Given the description of an element on the screen output the (x, y) to click on. 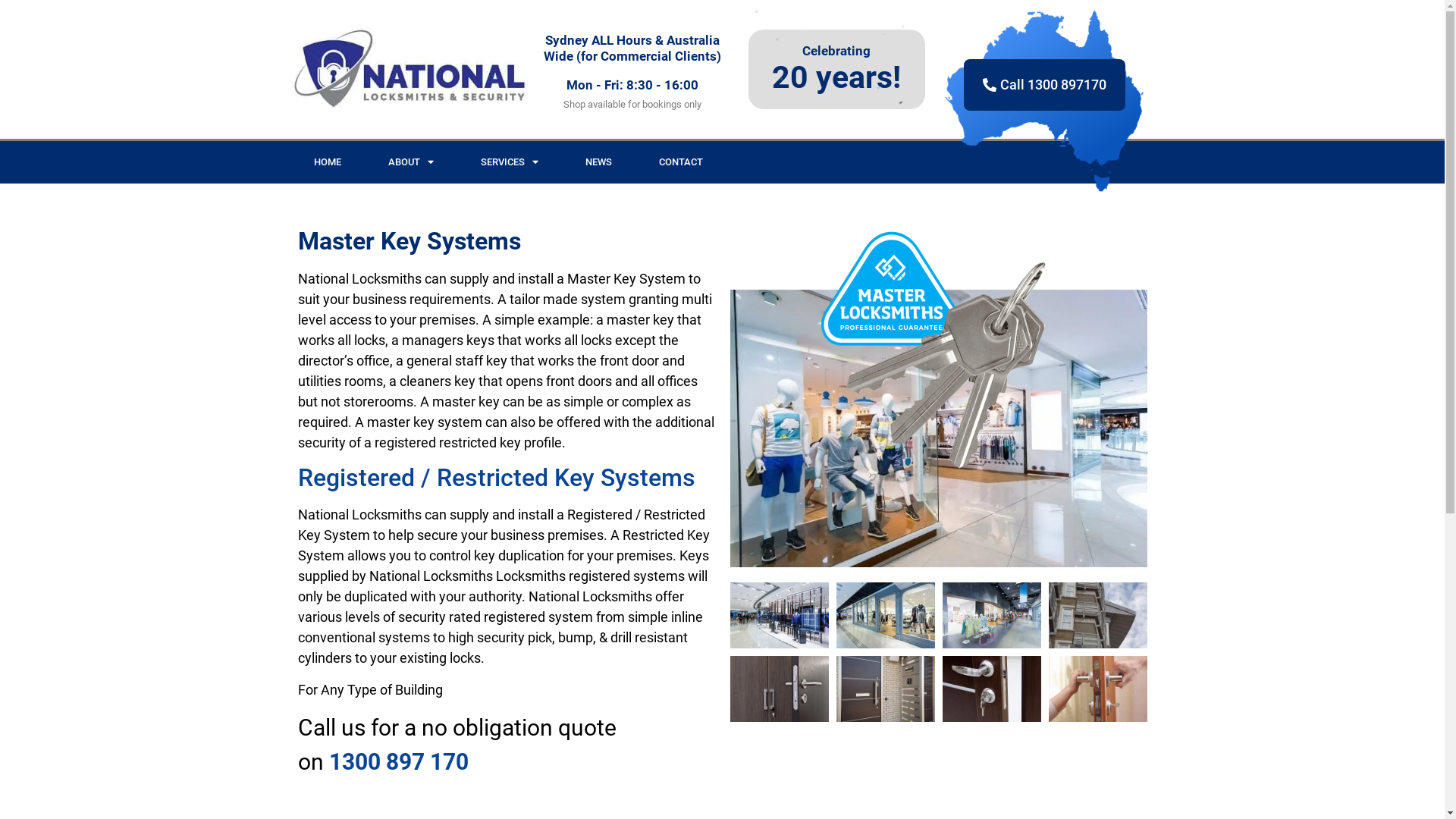
Call 1300 897170 Element type: text (1044, 84)
1300 897 170 Element type: text (398, 761)
ABOUT Element type: text (410, 162)
locksmith-3 Element type: hover (938, 350)
NEWS Element type: text (597, 162)
SERVICES Element type: text (508, 162)
HOME Element type: text (326, 162)
CONTACT Element type: text (680, 162)
